Given the description of an element on the screen output the (x, y) to click on. 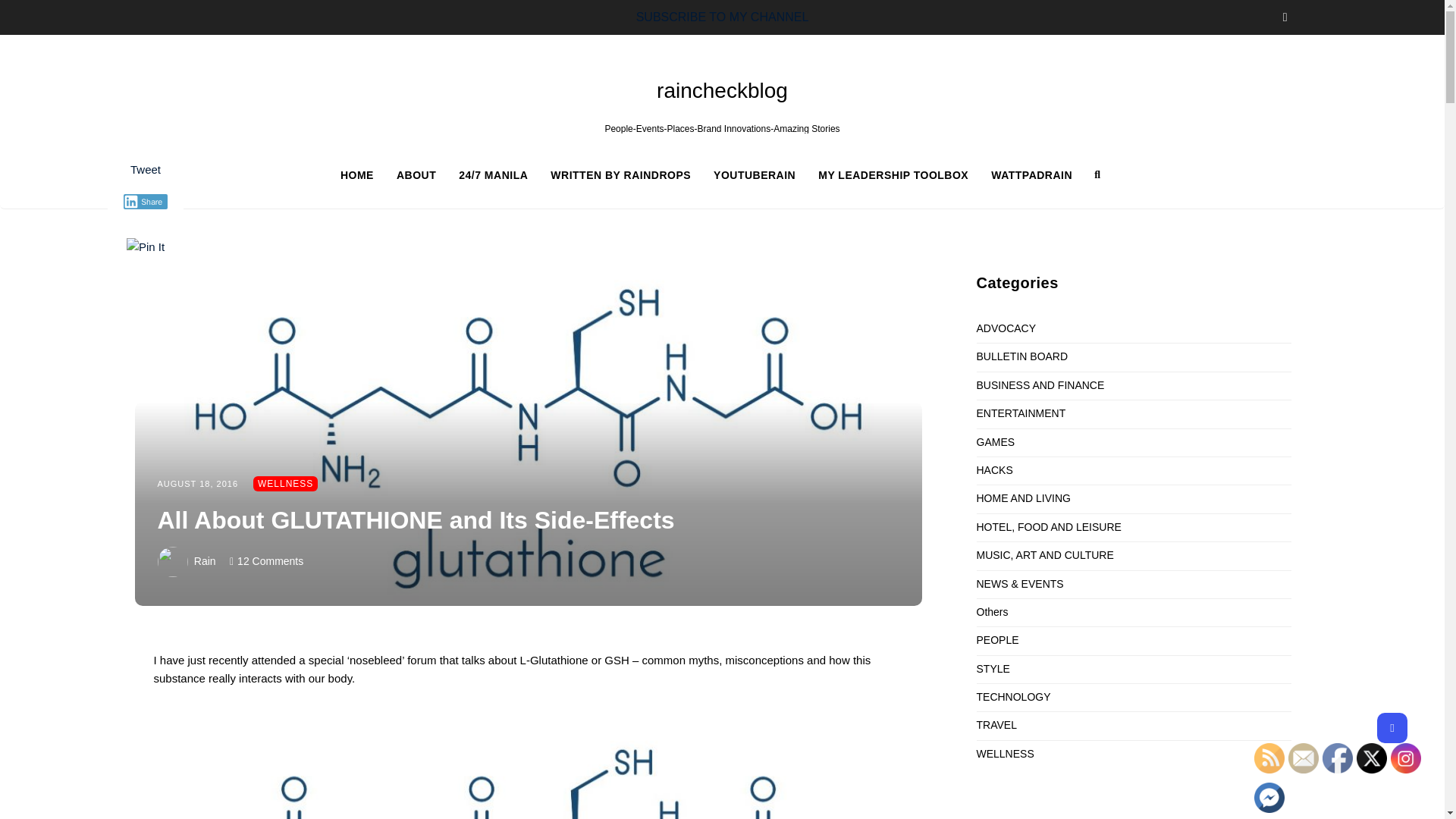
WRITTEN BY RAINDROPS (631, 174)
AUGUST 18, 2016 (197, 483)
WELLNESS (285, 483)
Who, What, Where and When (1022, 356)
business and money news (1040, 385)
MY LEADERSHIP TOOLBOX (904, 174)
showbiz and television (1020, 413)
ABOUT (427, 174)
WATTPADRAIN (1031, 174)
for a better world (1006, 328)
sports, games and recreation (995, 441)
SUBSCRIBE TO MY CHANNEL (722, 16)
12 Comments (269, 561)
Rain (204, 561)
